Given the description of an element on the screen output the (x, y) to click on. 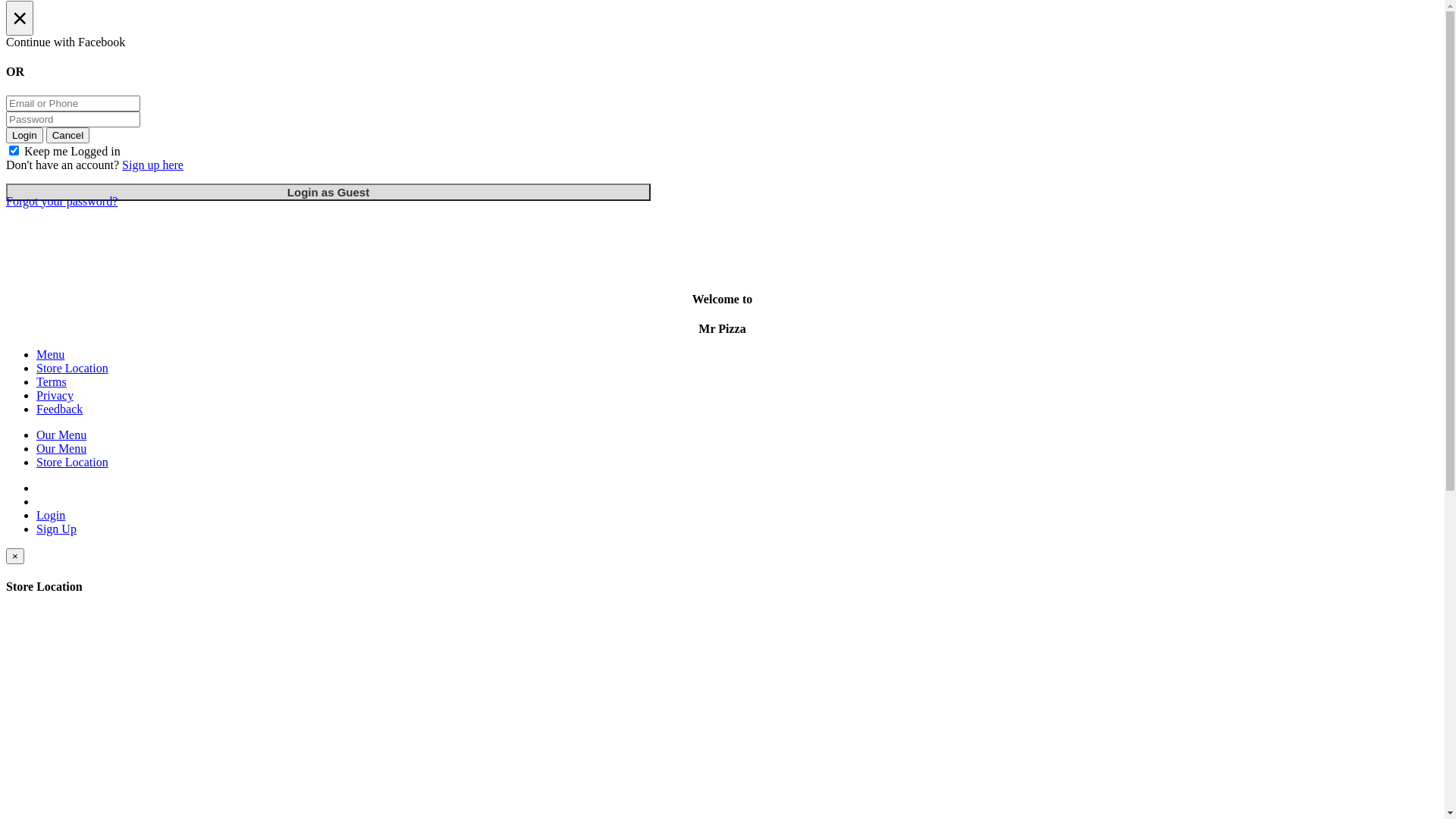
Login Element type: text (50, 514)
Our Menu Element type: text (61, 448)
Login as Guest Element type: text (328, 191)
Login Element type: text (24, 135)
Forgot your password? Element type: text (61, 200)
Store Location Element type: text (72, 461)
Store Location Element type: text (72, 367)
Terms Element type: text (51, 381)
Menu Element type: text (50, 354)
Sign Up Element type: text (56, 528)
Sign up here Element type: text (152, 164)
Continue with Facebook Element type: text (722, 42)
Feedback Element type: text (59, 408)
Privacy Element type: text (54, 395)
Cancel Element type: text (68, 135)
Our Menu Element type: text (61, 434)
Login as Guest Element type: text (328, 191)
